Given the description of an element on the screen output the (x, y) to click on. 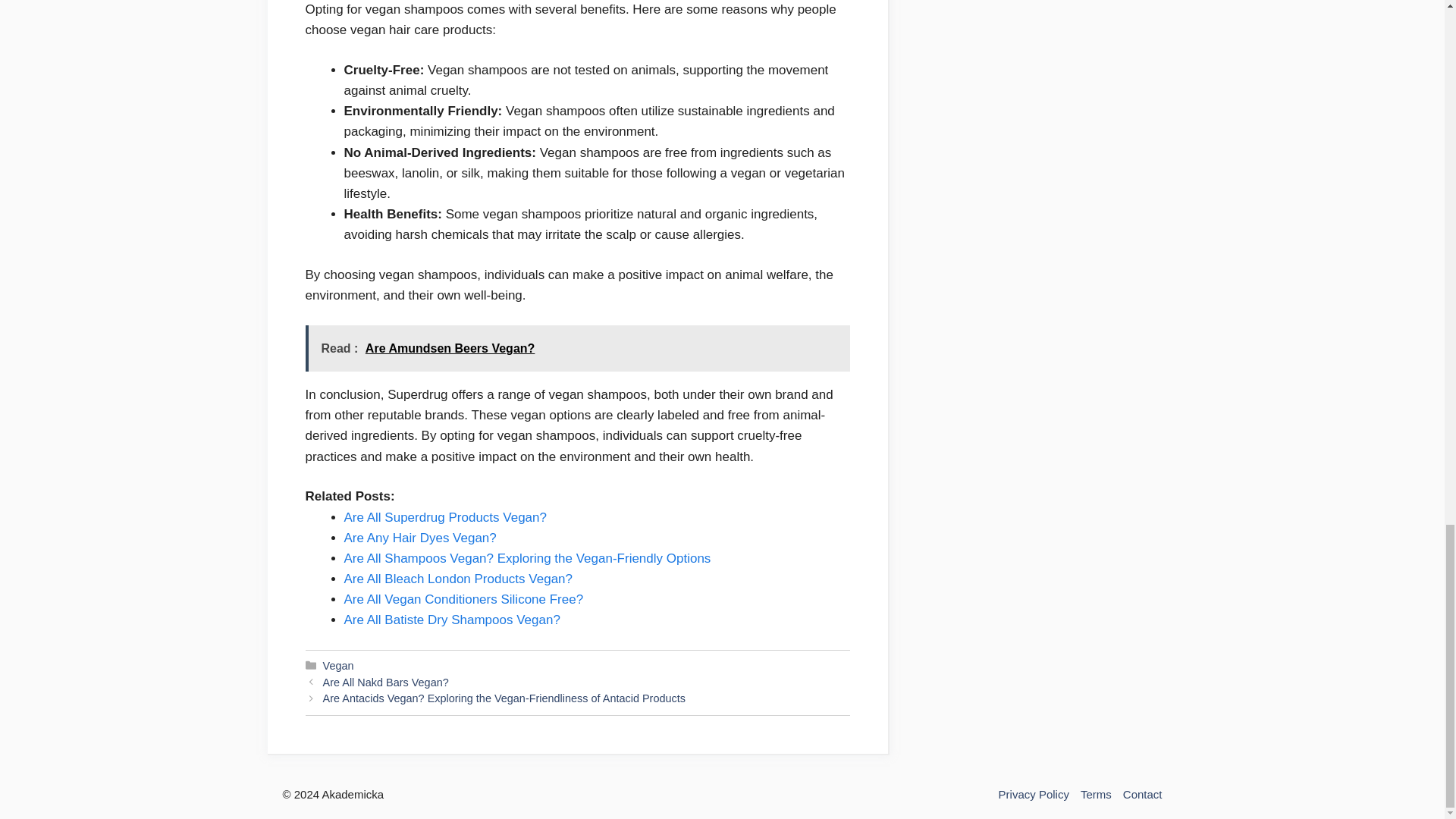
Are All Nakd Bars Vegan? (385, 682)
Are All Bleach London Products Vegan? (458, 578)
Are All Batiste Dry Shampoos Vegan? (451, 619)
Are Any Hair Dyes Vegan? (419, 537)
Are All Vegan Conditioners Silicone Free? (463, 599)
Are All Shampoos Vegan? Exploring the Vegan-Friendly Options (527, 558)
Vegan (338, 665)
Read :  Are Amundsen Beers Vegan? (576, 348)
Are All Superdrug Products Vegan? (445, 516)
